Given the description of an element on the screen output the (x, y) to click on. 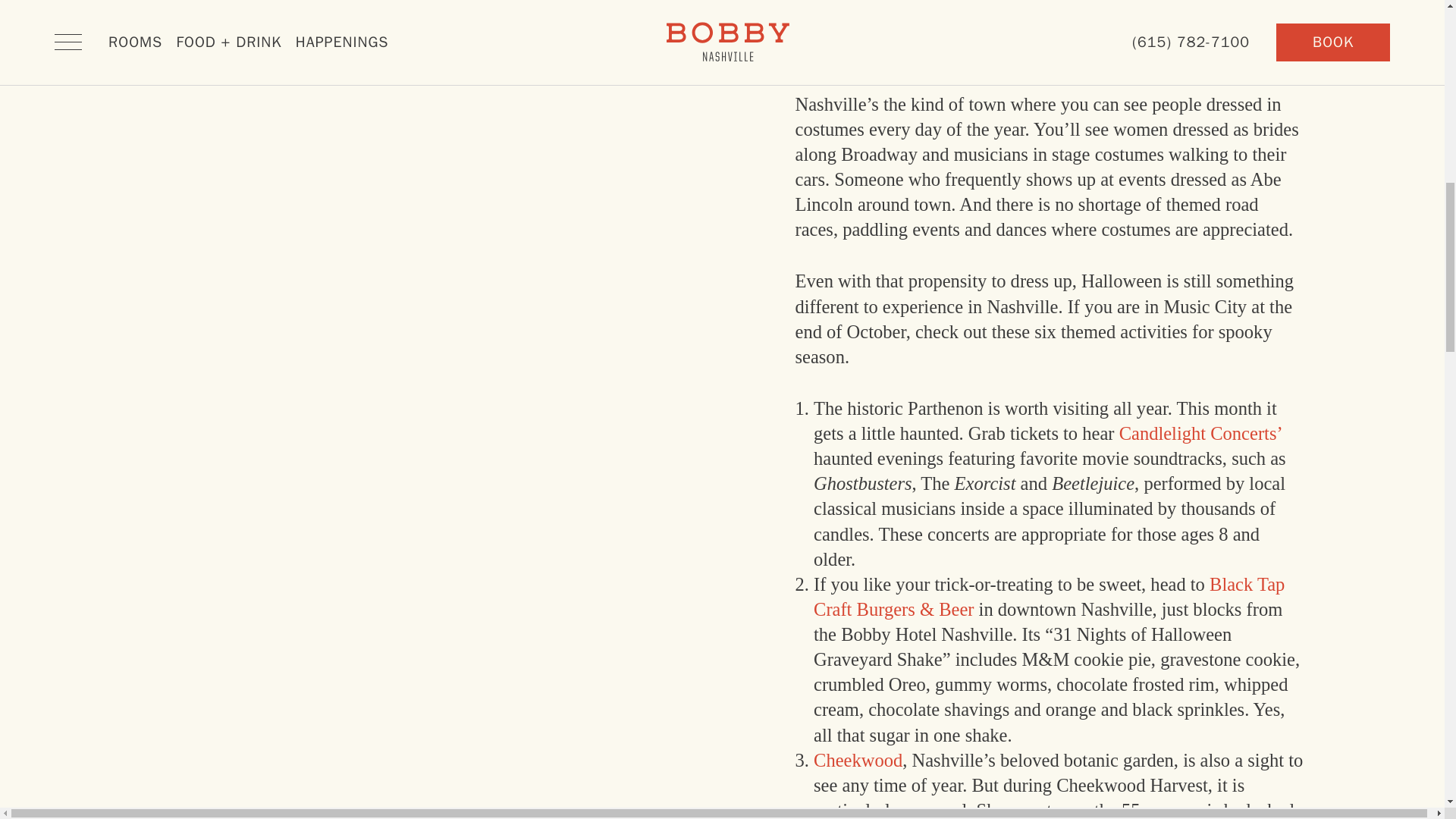
Cheekwood (857, 760)
